Given the description of an element on the screen output the (x, y) to click on. 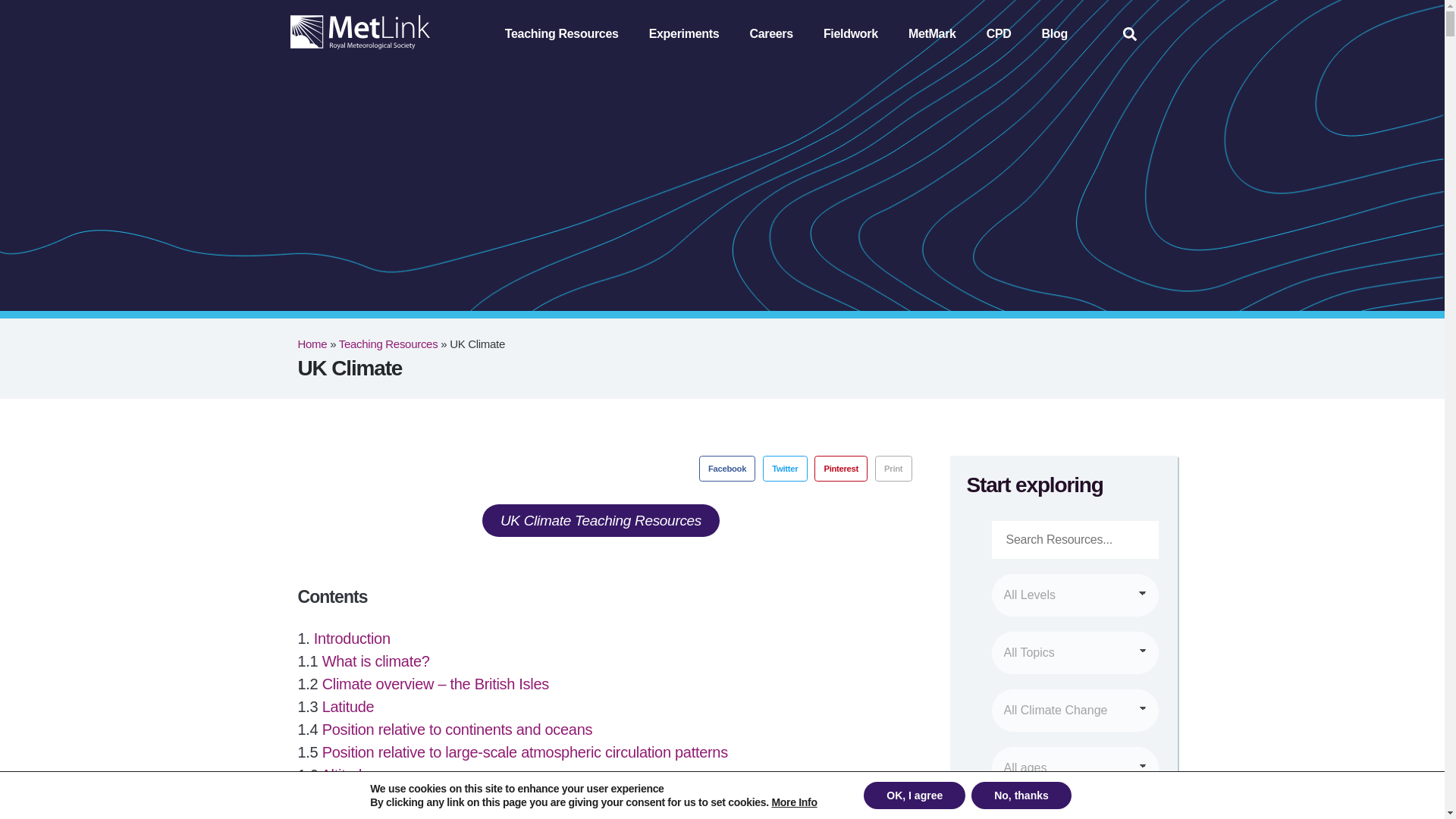
Choose an age range (1074, 767)
Experiments (684, 33)
SEARCH (1074, 811)
Search Resources (1074, 539)
MetMark (932, 33)
What is climate? (375, 660)
Latitude (347, 705)
Introduction (352, 637)
UK Climate Teaching Resources (600, 520)
Teaching Resources (388, 343)
